Given the description of an element on the screen output the (x, y) to click on. 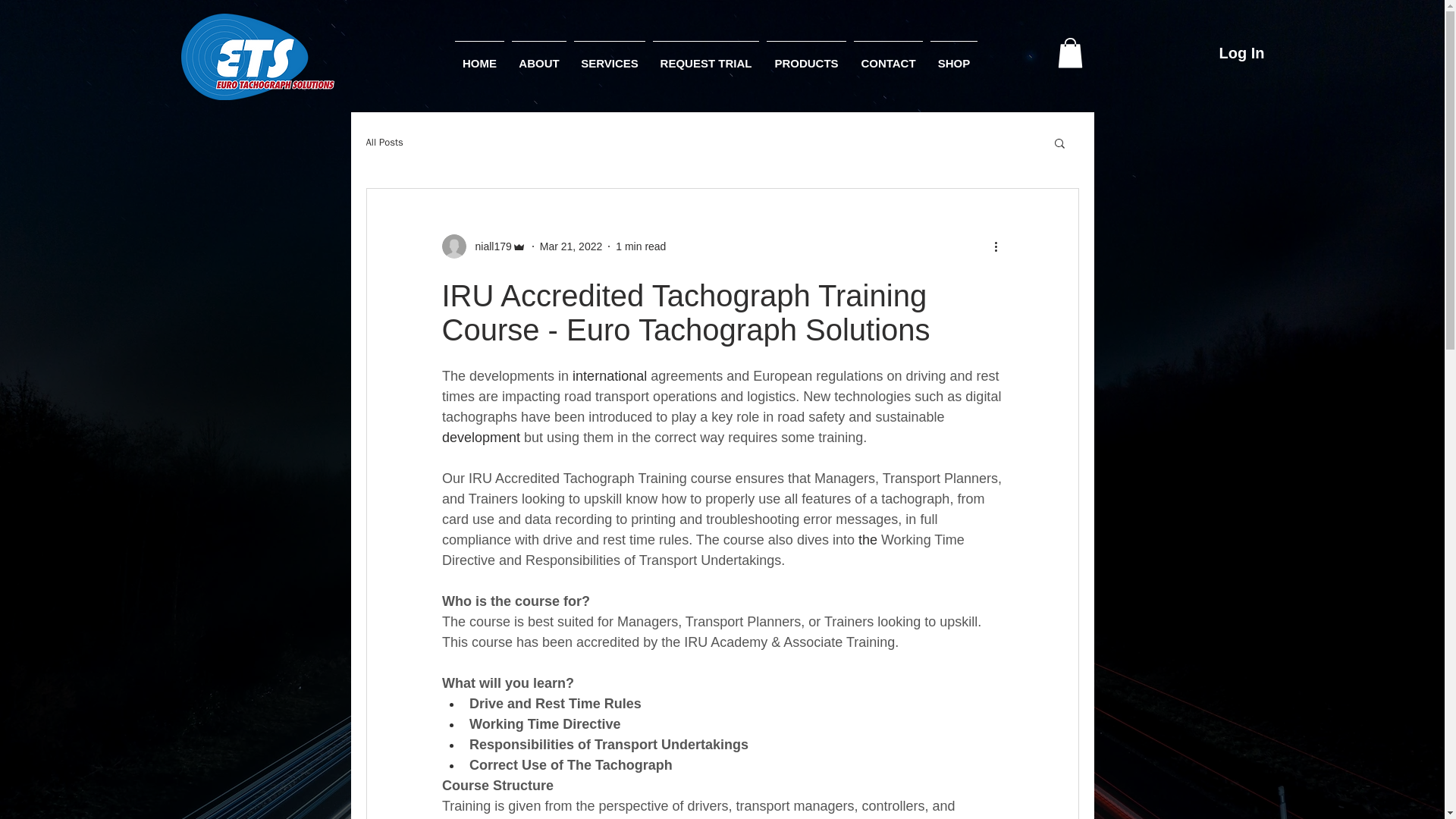
SHOP (953, 56)
niall179 (488, 245)
PRODUCTS (806, 56)
REQUEST TRIAL (705, 56)
niall179 (483, 246)
Log In (1241, 52)
All Posts (384, 142)
Mar 21, 2022 (571, 245)
ABOUT (539, 56)
1 min read (640, 245)
